Given the description of an element on the screen output the (x, y) to click on. 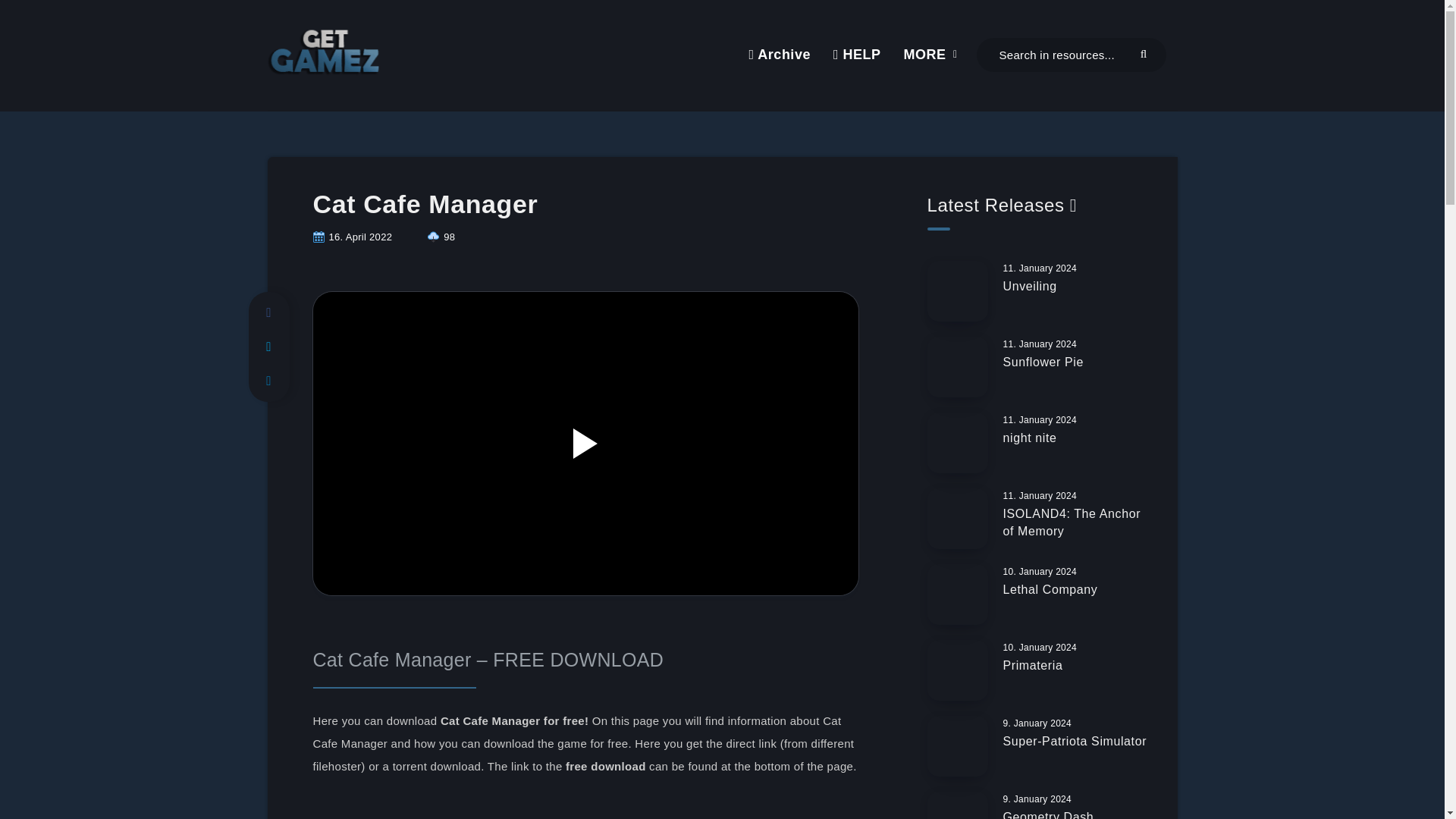
Primateria (1032, 667)
Geometry Dash (1048, 814)
Downloads (441, 236)
Archive (778, 54)
HELP (856, 54)
Super-Patriota Simulator (1075, 742)
ISOLAND4: The Anchor of Memory (1071, 523)
Sunflower Pie (1043, 363)
Unveiling (1030, 288)
night nite (1030, 439)
MORE (925, 54)
Lethal Company (1050, 591)
Archive (778, 54)
